Given the description of an element on the screen output the (x, y) to click on. 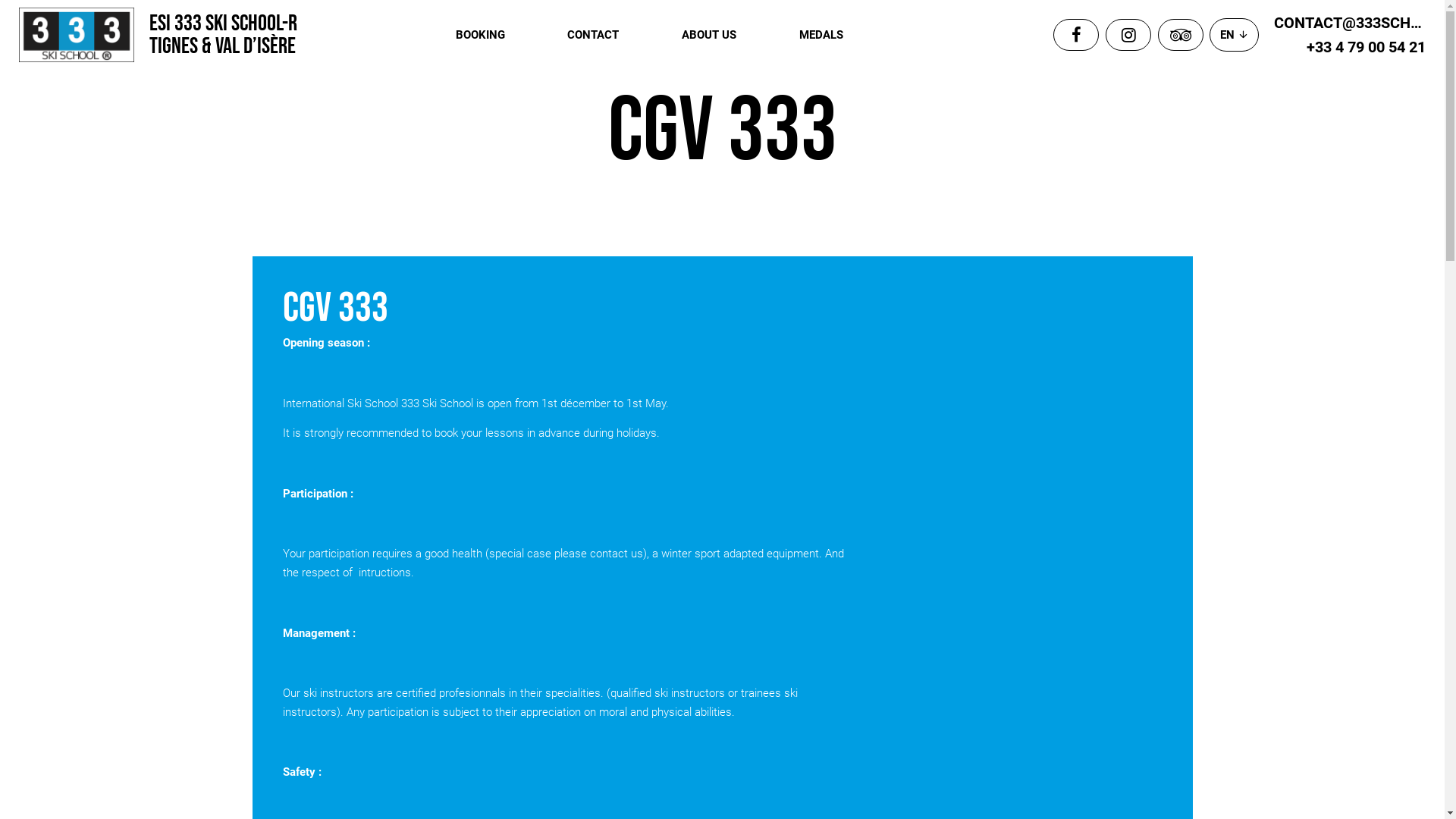
MEDALS Element type: text (821, 34)
BOOKING Element type: text (480, 34)
ABOUT US Element type: text (708, 34)
+33 4 79 00 54 21 Element type: text (1349, 46)
CONTACT Element type: text (592, 34)
CONTACT@333SCHOOL.COM Element type: text (1349, 22)
